Given the description of an element on the screen output the (x, y) to click on. 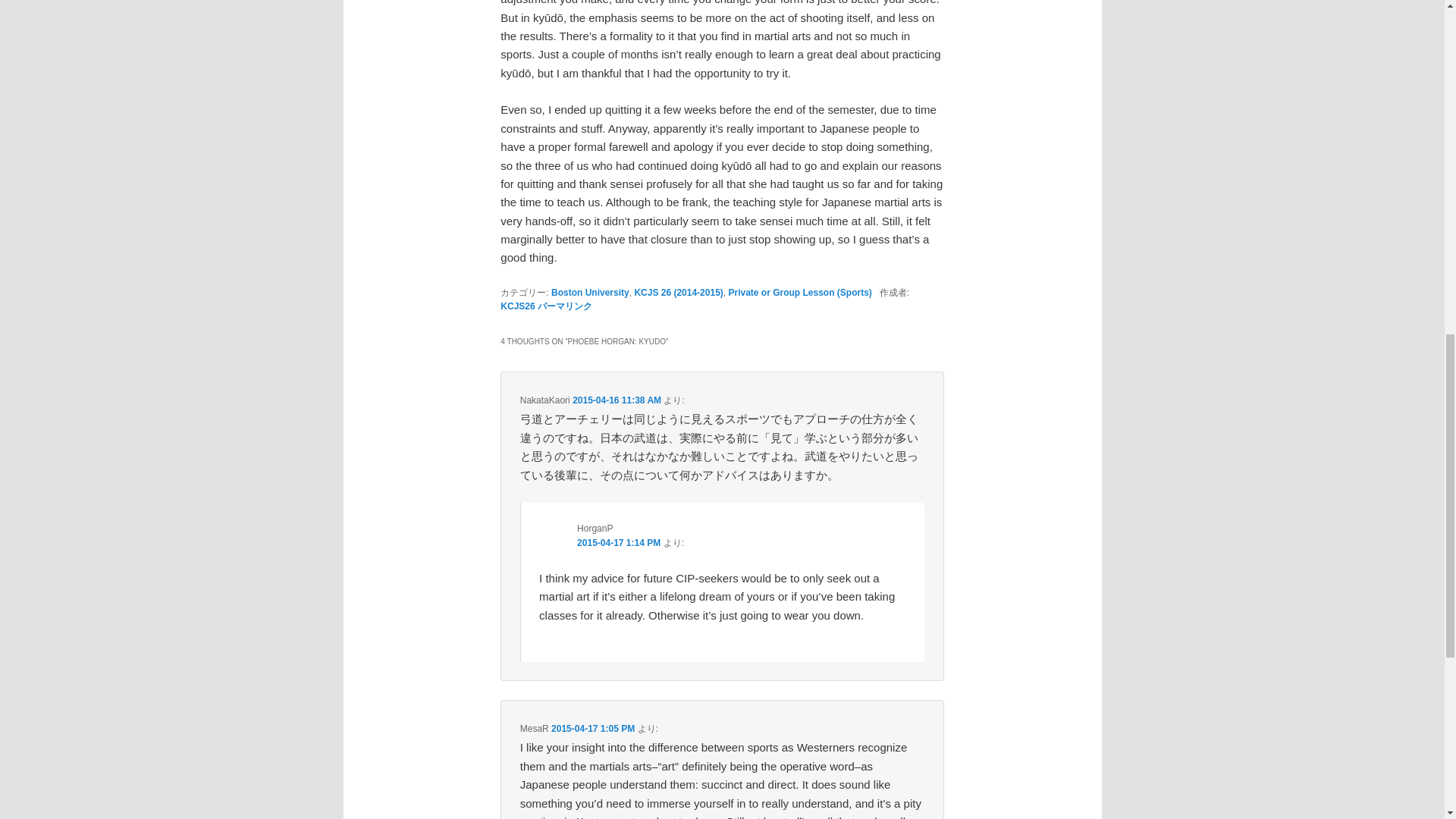
2015-04-17 1:14 PM (618, 542)
Boston University (589, 292)
2015-04-16 11:38 AM (616, 399)
2015-04-17 1:05 PM (592, 728)
KCJS26 (517, 306)
